Given the description of an element on the screen output the (x, y) to click on. 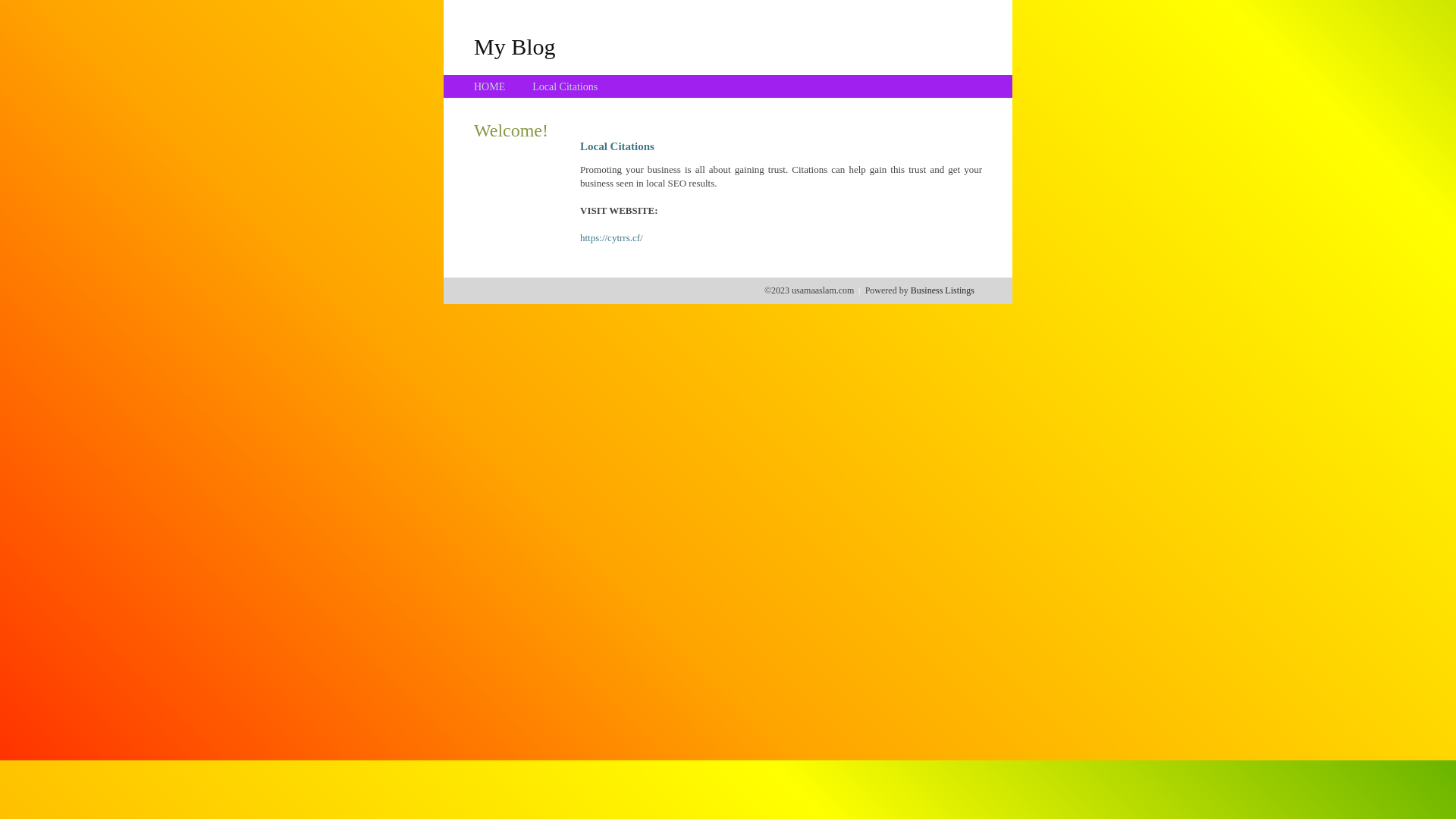
Business Listings Element type: text (942, 290)
Local Citations Element type: text (564, 86)
HOME Element type: text (489, 86)
https://cytrrs.cf/ Element type: text (611, 237)
My Blog Element type: text (514, 46)
